Given the description of an element on the screen output the (x, y) to click on. 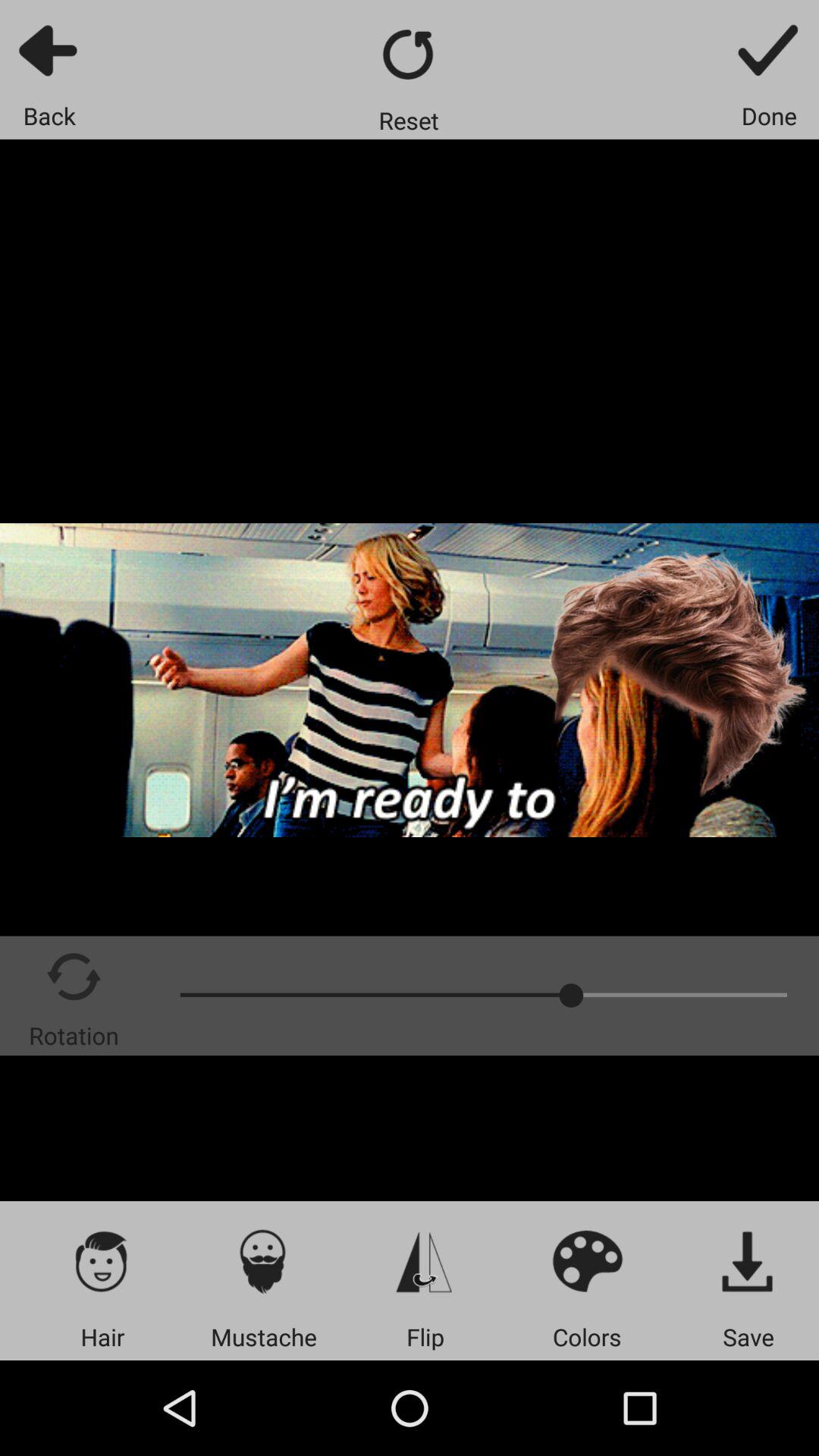
toggle facial hair choices (263, 1260)
